Given the description of an element on the screen output the (x, y) to click on. 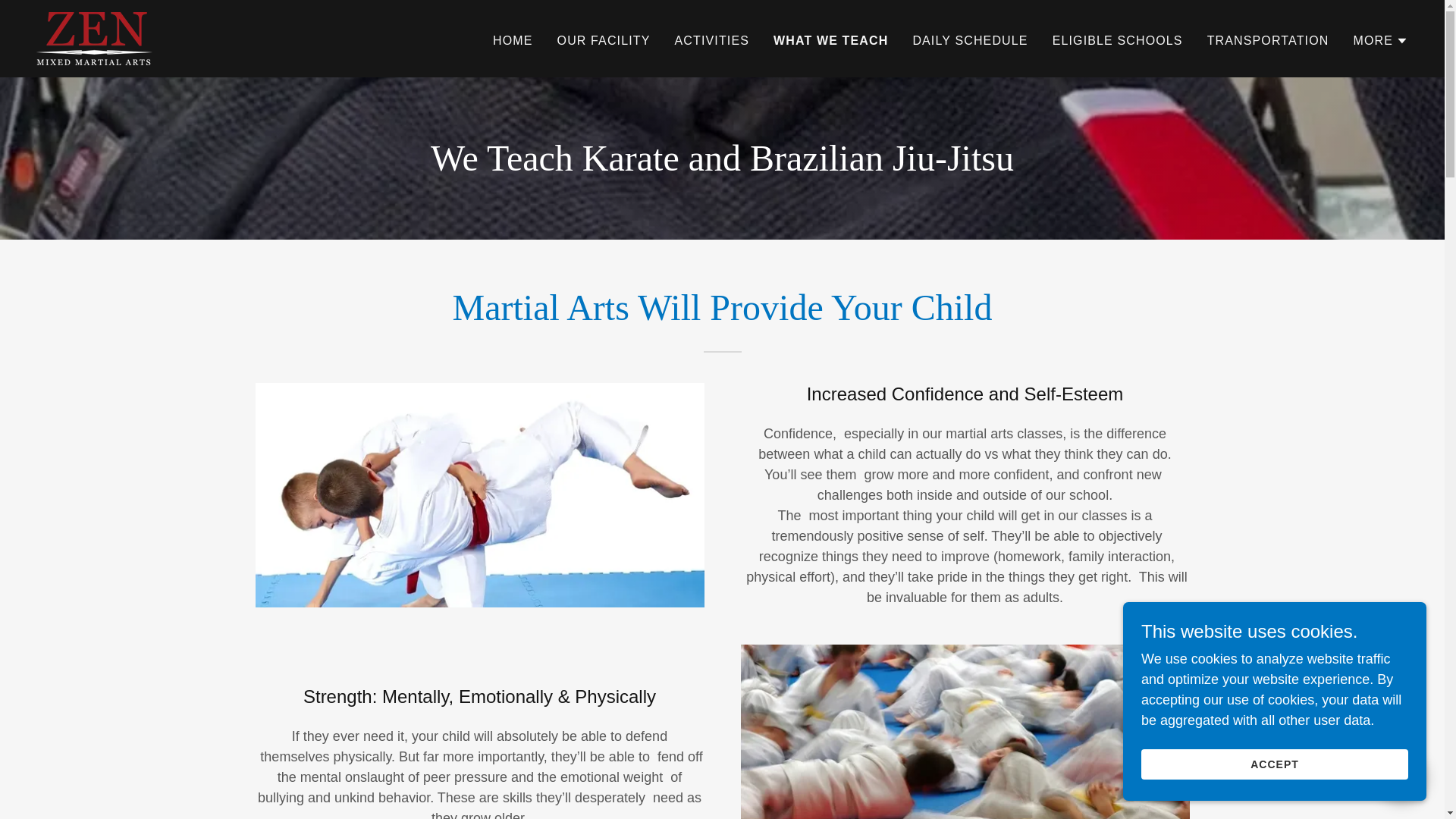
ELIGIBLE SCHOOLS (1118, 40)
ACTIVITIES (711, 40)
HOME (512, 40)
DAILY SCHEDULE (969, 40)
WHAT WE TEACH (830, 40)
OUR FACILITY (604, 40)
MORE (1379, 40)
Zen After School Program (94, 37)
TRANSPORTATION (1267, 40)
